Given the description of an element on the screen output the (x, y) to click on. 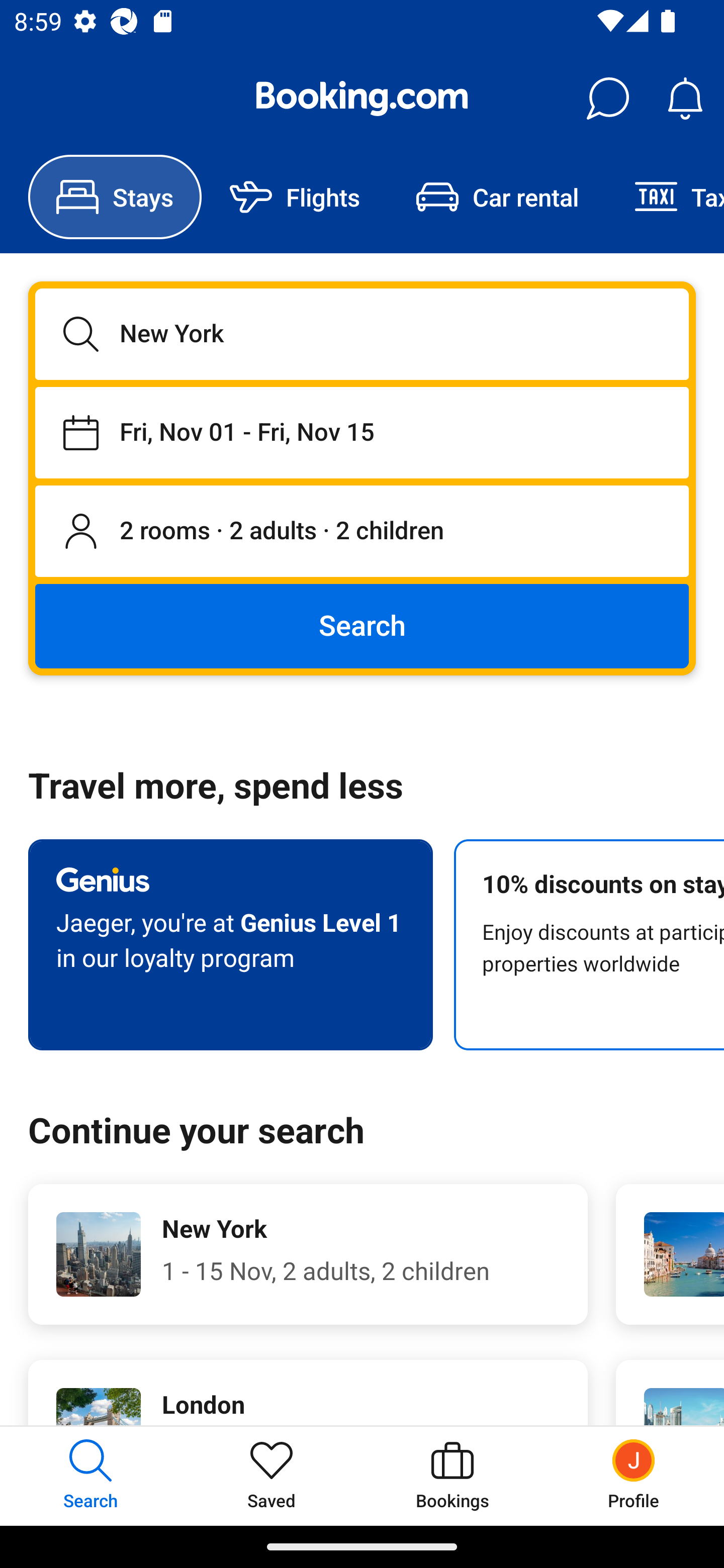
Messages (607, 98)
Notifications (685, 98)
Stays (114, 197)
Flights (294, 197)
Car rental (497, 197)
Taxi (665, 197)
New York (361, 333)
Staying from Fri, Nov 01 until Fri, Nov 15 (361, 432)
2 rooms, 2 adults, 2 children (361, 531)
Search (361, 625)
New York 1 - 15 Nov, 2 adults, 2 children (307, 1253)
Saved (271, 1475)
Bookings (452, 1475)
Profile (633, 1475)
